Given the description of an element on the screen output the (x, y) to click on. 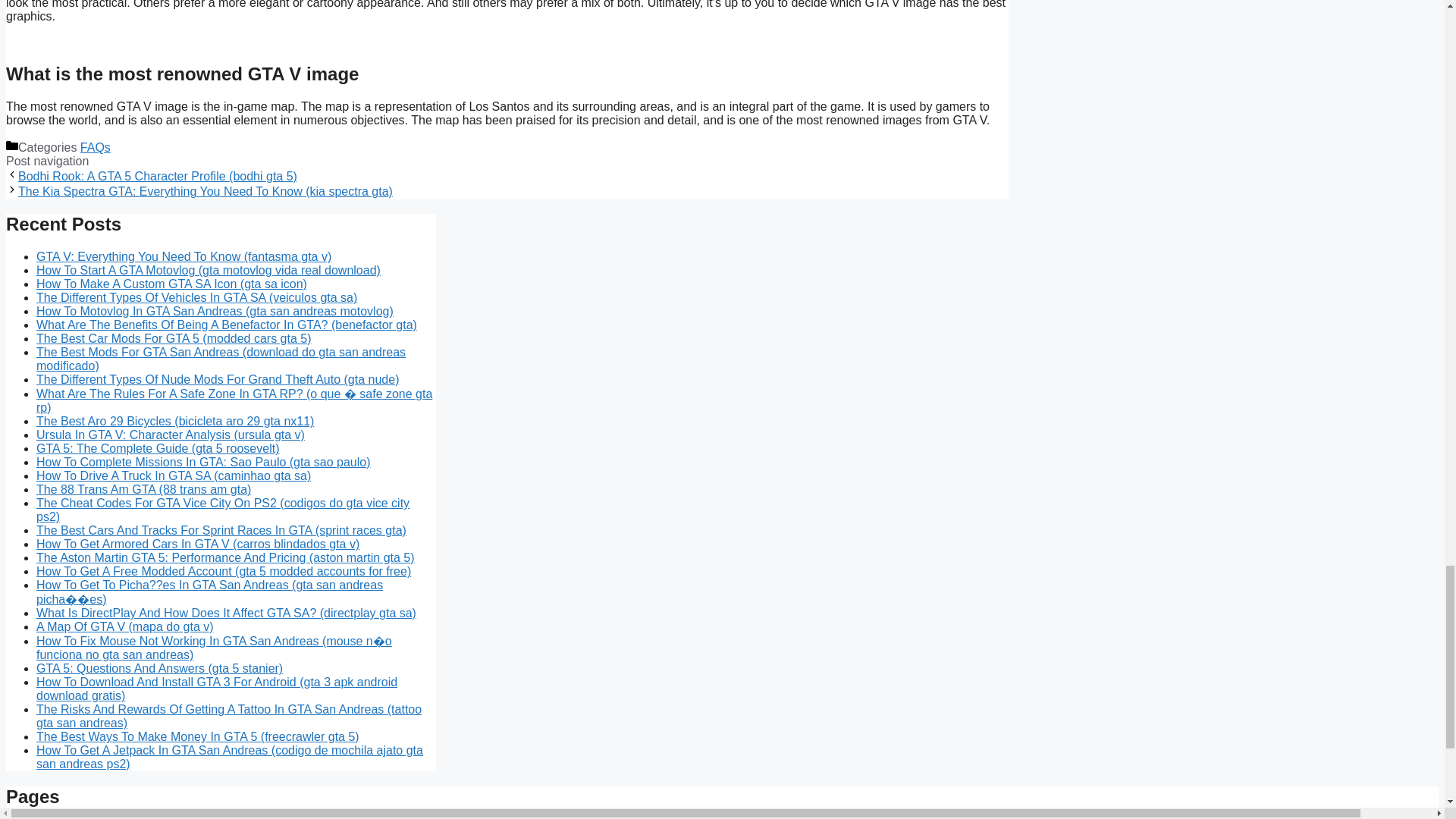
Previous (157, 175)
FAQs (95, 146)
Next (205, 191)
